Given the description of an element on the screen output the (x, y) to click on. 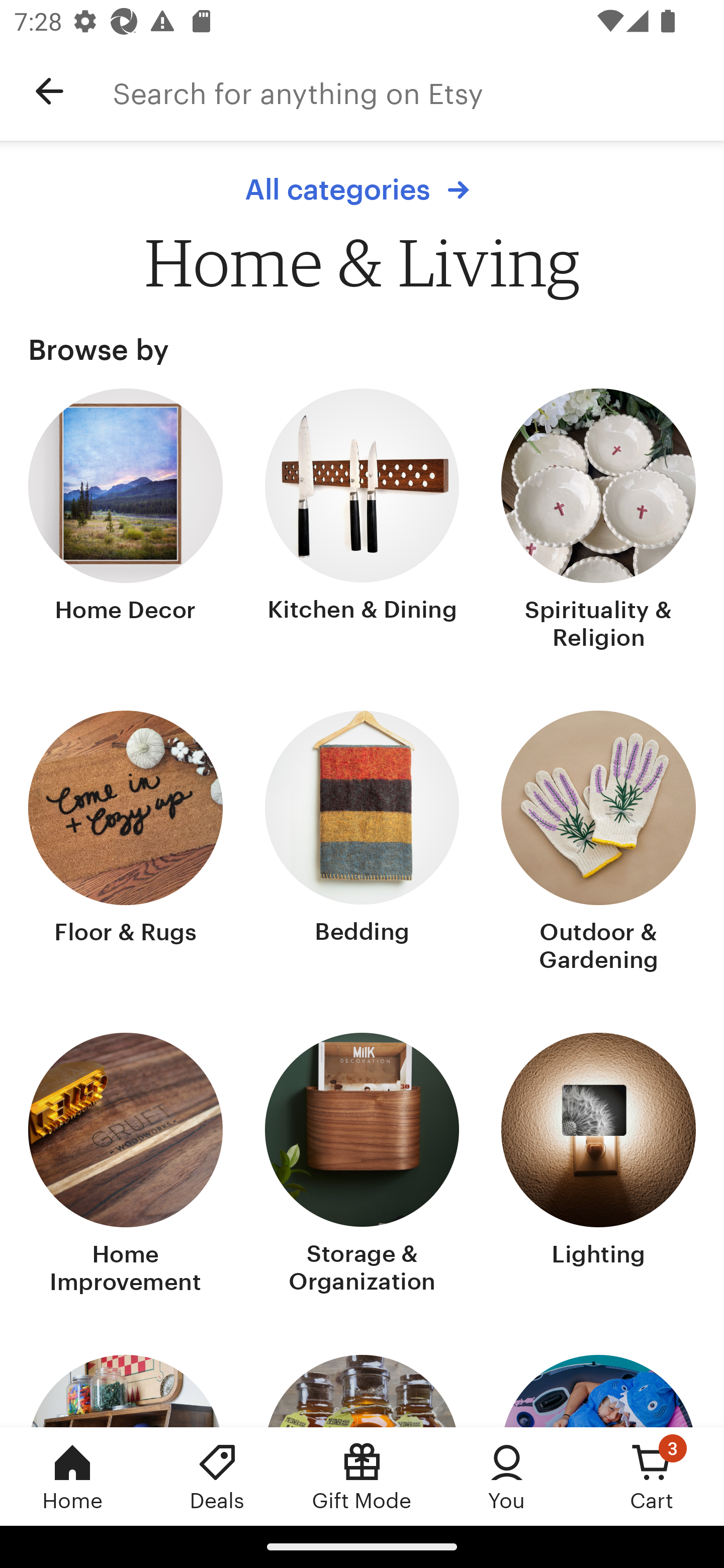
Navigate up (49, 91)
Search for anything on Etsy (418, 91)
All categories (361, 189)
Home Decor (125, 520)
Kitchen & Dining (361, 520)
Spirituality & Religion (598, 520)
Floor & Rugs (125, 843)
Bedding (361, 843)
Outdoor & Gardening (598, 843)
Home Improvement (125, 1165)
Storage & Organization (361, 1165)
Lighting (598, 1165)
Deals (216, 1475)
Gift Mode (361, 1475)
You (506, 1475)
Cart, 3 new notifications Cart (651, 1475)
